Given the description of an element on the screen output the (x, y) to click on. 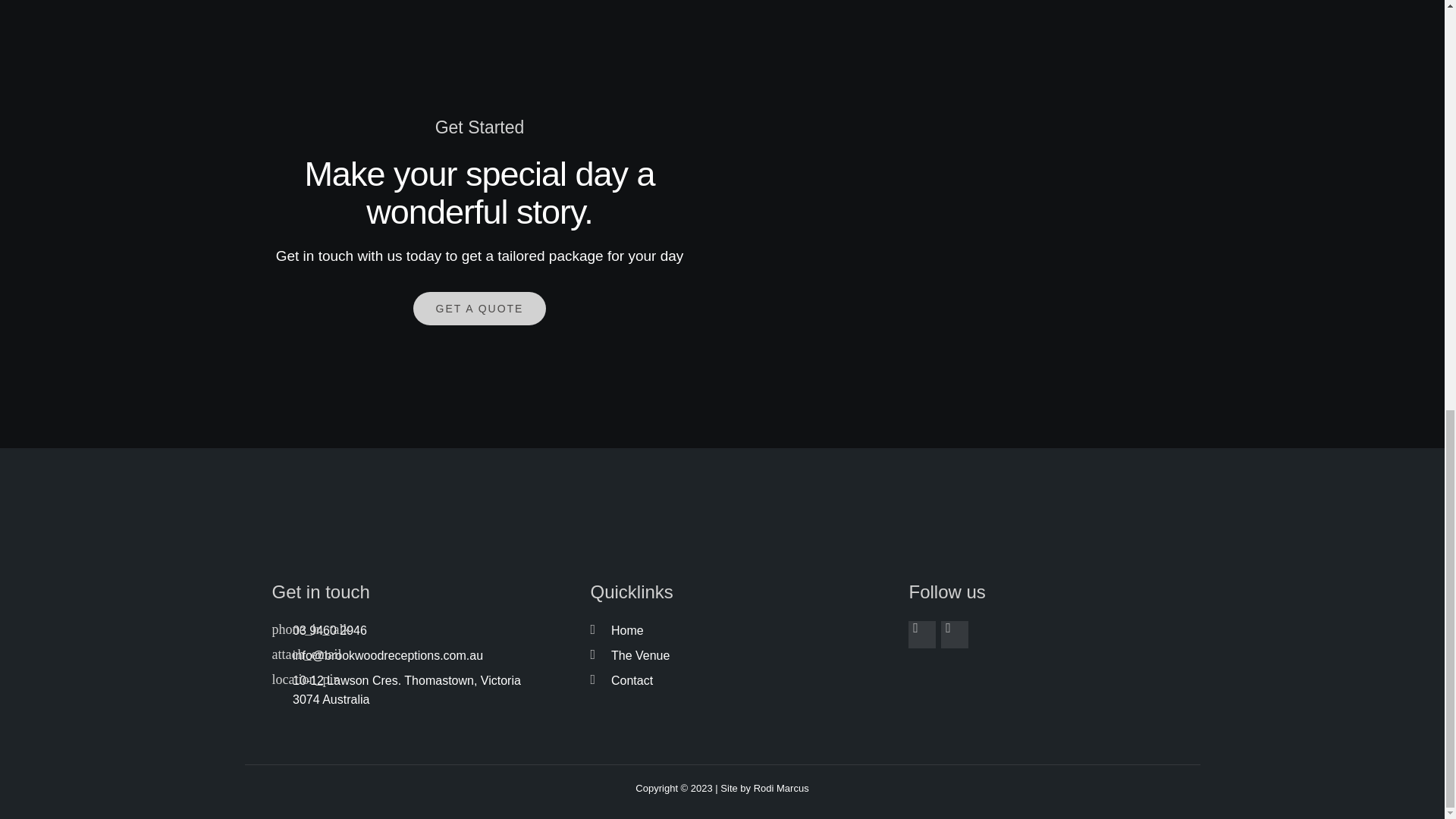
GET A QUOTE (480, 308)
Home (721, 630)
The Venue (721, 655)
Contact (721, 680)
